Given the description of an element on the screen output the (x, y) to click on. 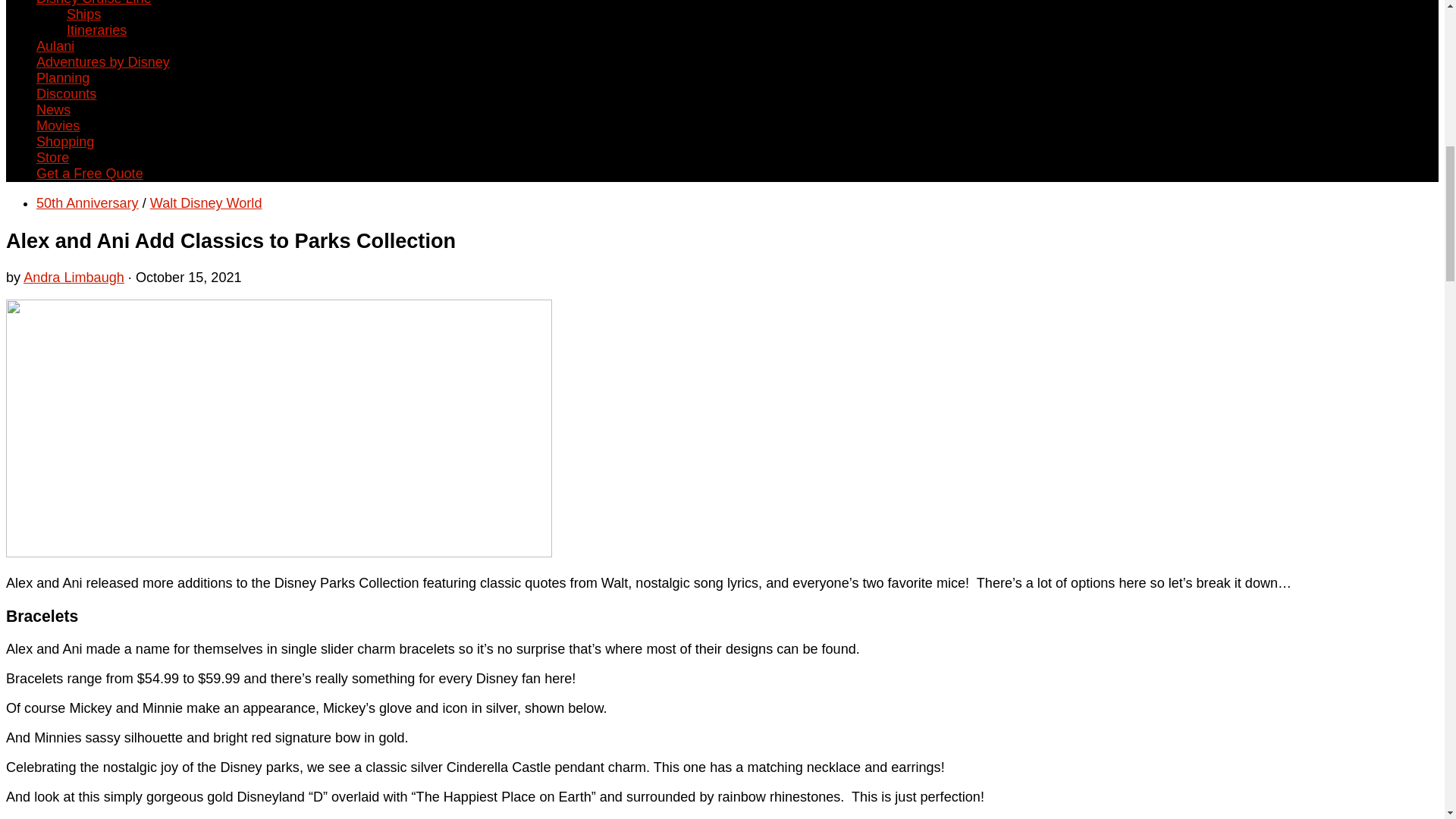
Alex and Ani Add Classics to Parks Collection (278, 552)
Posts by Andra Limbaugh (73, 277)
